Given the description of an element on the screen output the (x, y) to click on. 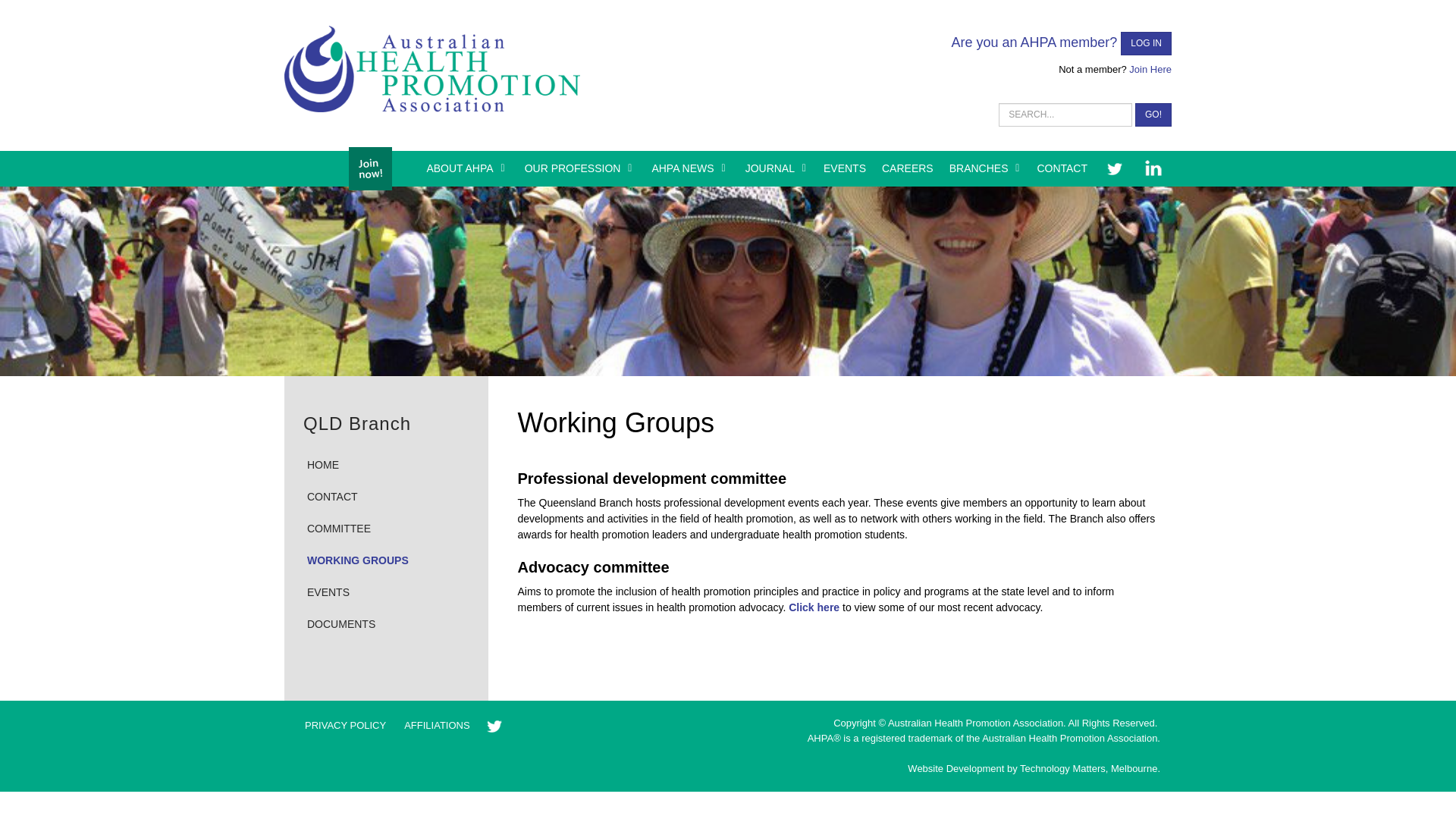
LOG IN (1146, 43)
GO! (1153, 114)
Join Here (1150, 69)
Australian Health Promotion Association (431, 68)
